Given the description of an element on the screen output the (x, y) to click on. 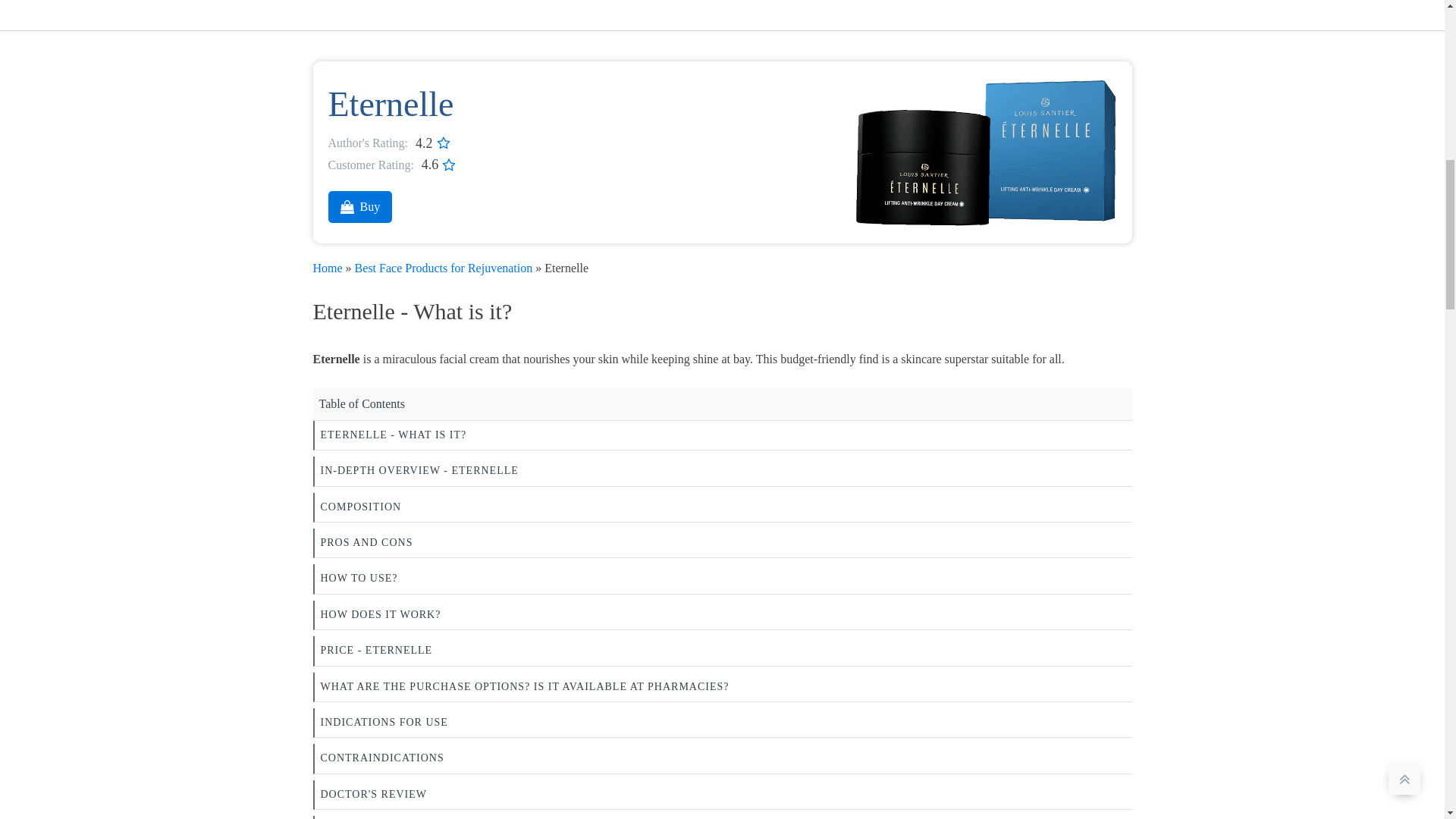
CONTRAINDICATIONS (722, 758)
IN-DEPTH OVERVIEW - ETERNELLE (722, 471)
Best Face Products for Rejuvenation (443, 267)
INDICATIONS FOR USE (722, 722)
ETERNELLE - WHAT IS IT? (722, 435)
COMPOSITION (722, 507)
DOCTOR'S REVIEW (722, 794)
Home (327, 267)
HOW TO USE? (722, 578)
